Given the description of an element on the screen output the (x, y) to click on. 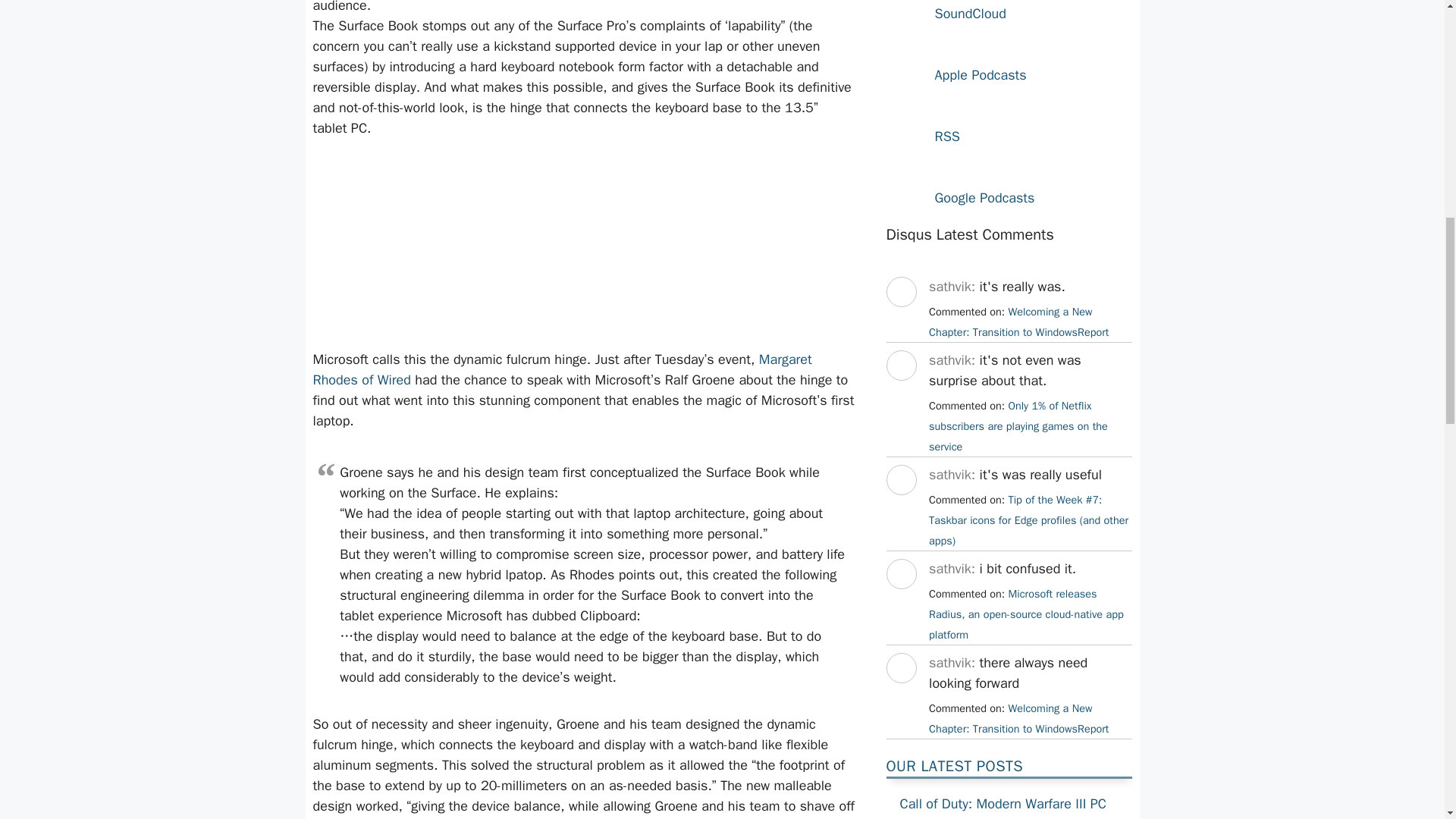
sathvik (900, 508)
June 15, 2024 (1026, 614)
July 11, 2024 (1018, 425)
July 24, 2024 (1018, 321)
sathvik (900, 602)
July 8, 2024 (1028, 520)
May 20, 2024 (1018, 718)
sathvik (900, 320)
sathvik (900, 696)
sathvik (900, 393)
